Given the description of an element on the screen output the (x, y) to click on. 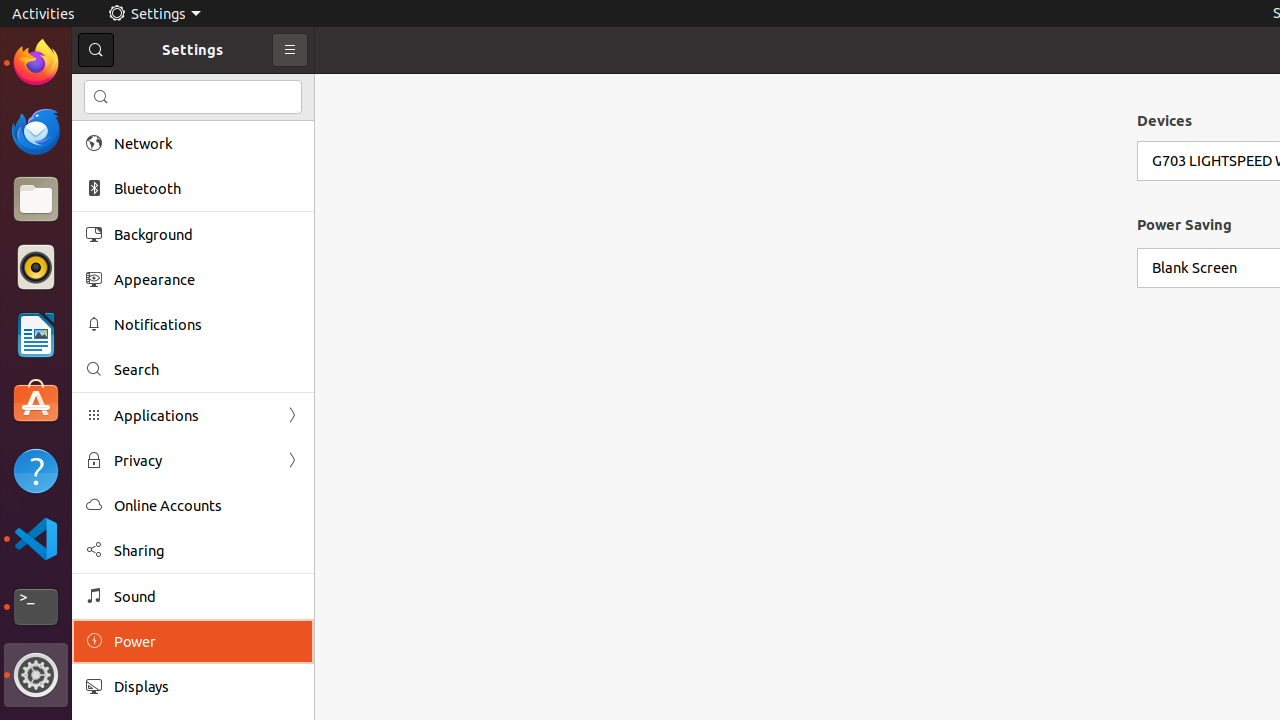
Applications Element type: label (193, 415)
Background Element type: label (207, 234)
Trash Element type: label (133, 191)
edit-find-symbolic Element type: icon (101, 97)
